Given the description of an element on the screen output the (x, y) to click on. 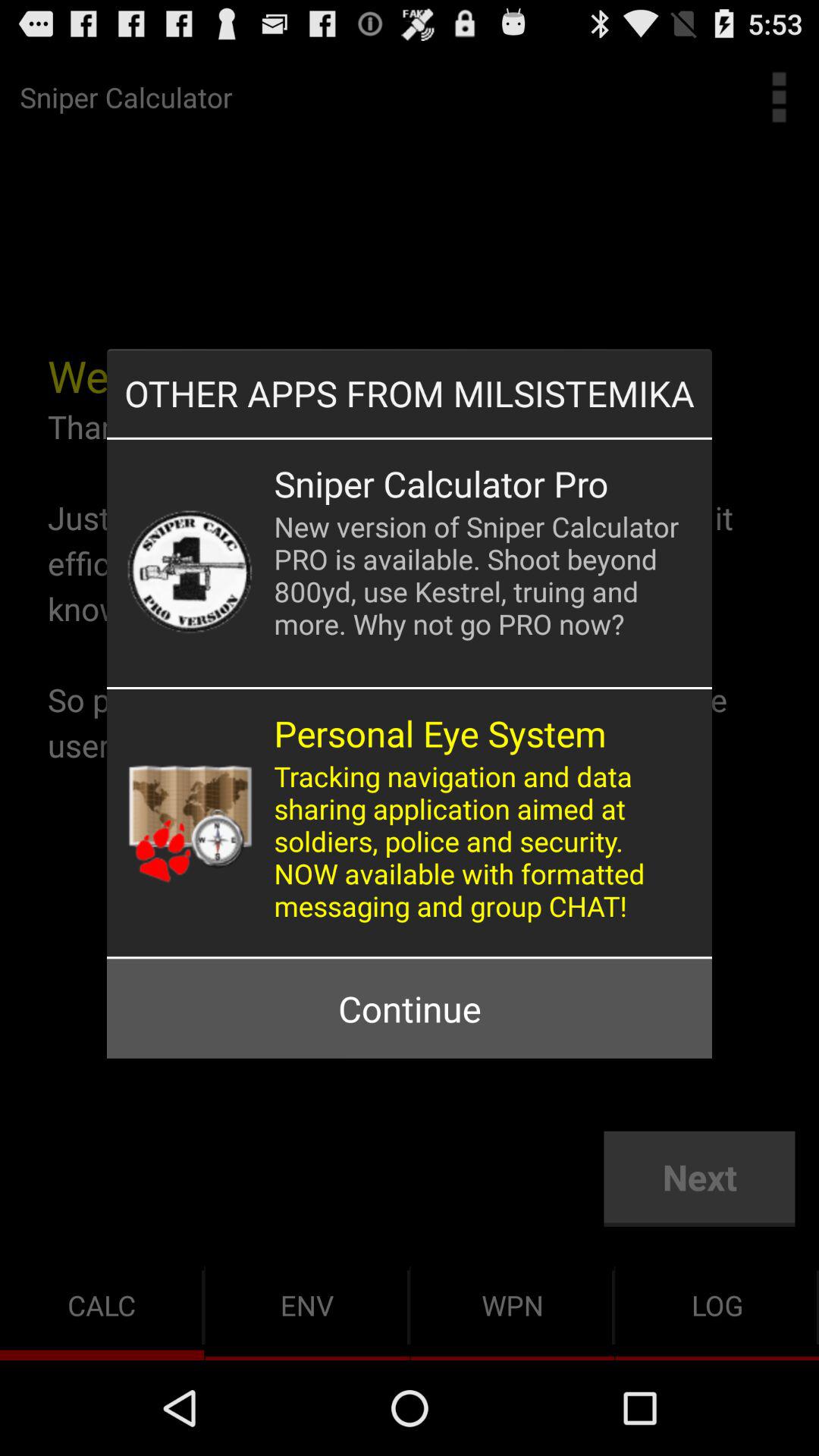
flip to continue button (409, 1008)
